Given the description of an element on the screen output the (x, y) to click on. 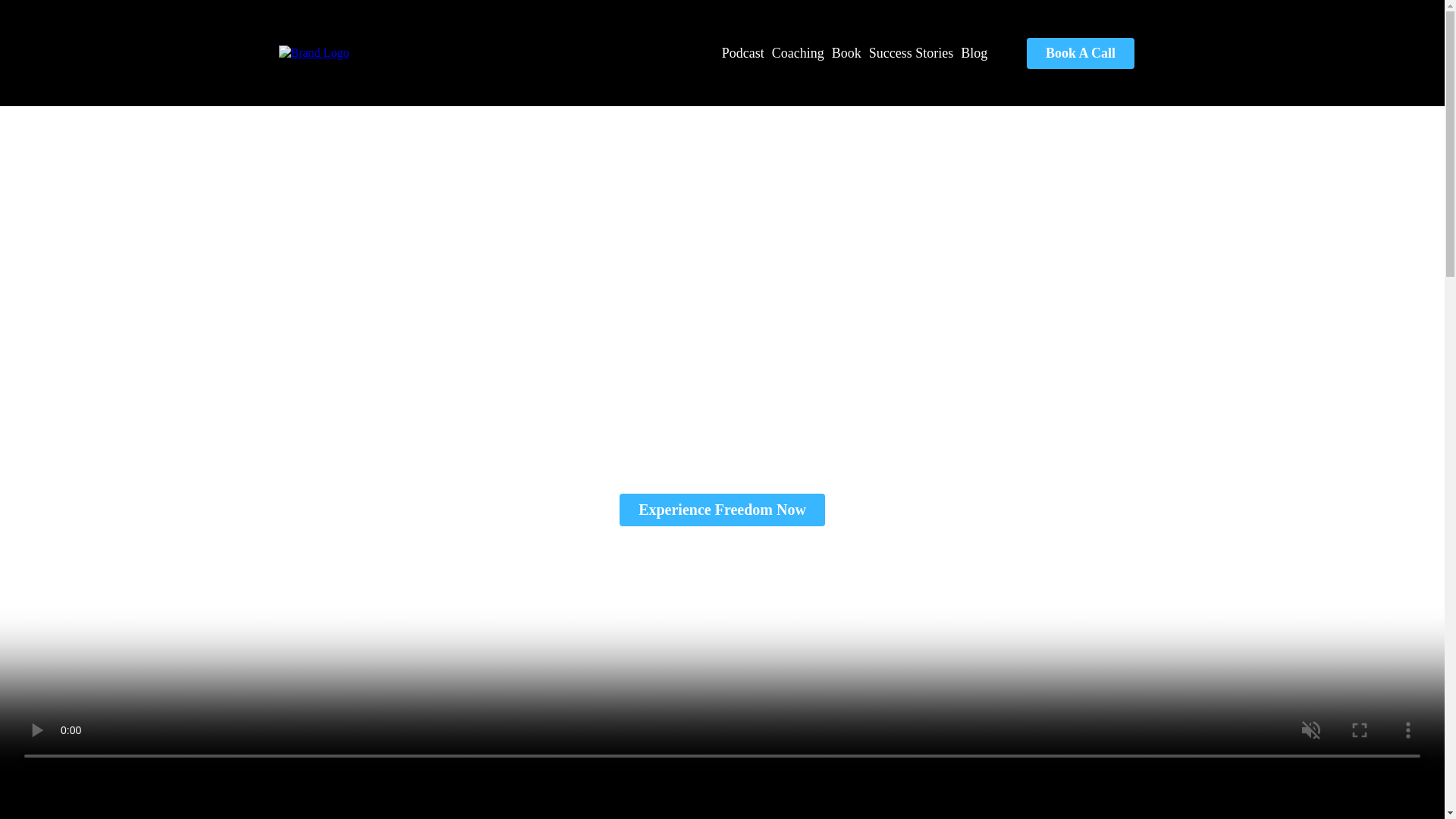
Blog (973, 53)
Book A Call (1080, 52)
Book (846, 53)
Success Stories (911, 53)
Experience Freedom Now (722, 509)
Podcast (742, 53)
Coaching (798, 53)
